Given the description of an element on the screen output the (x, y) to click on. 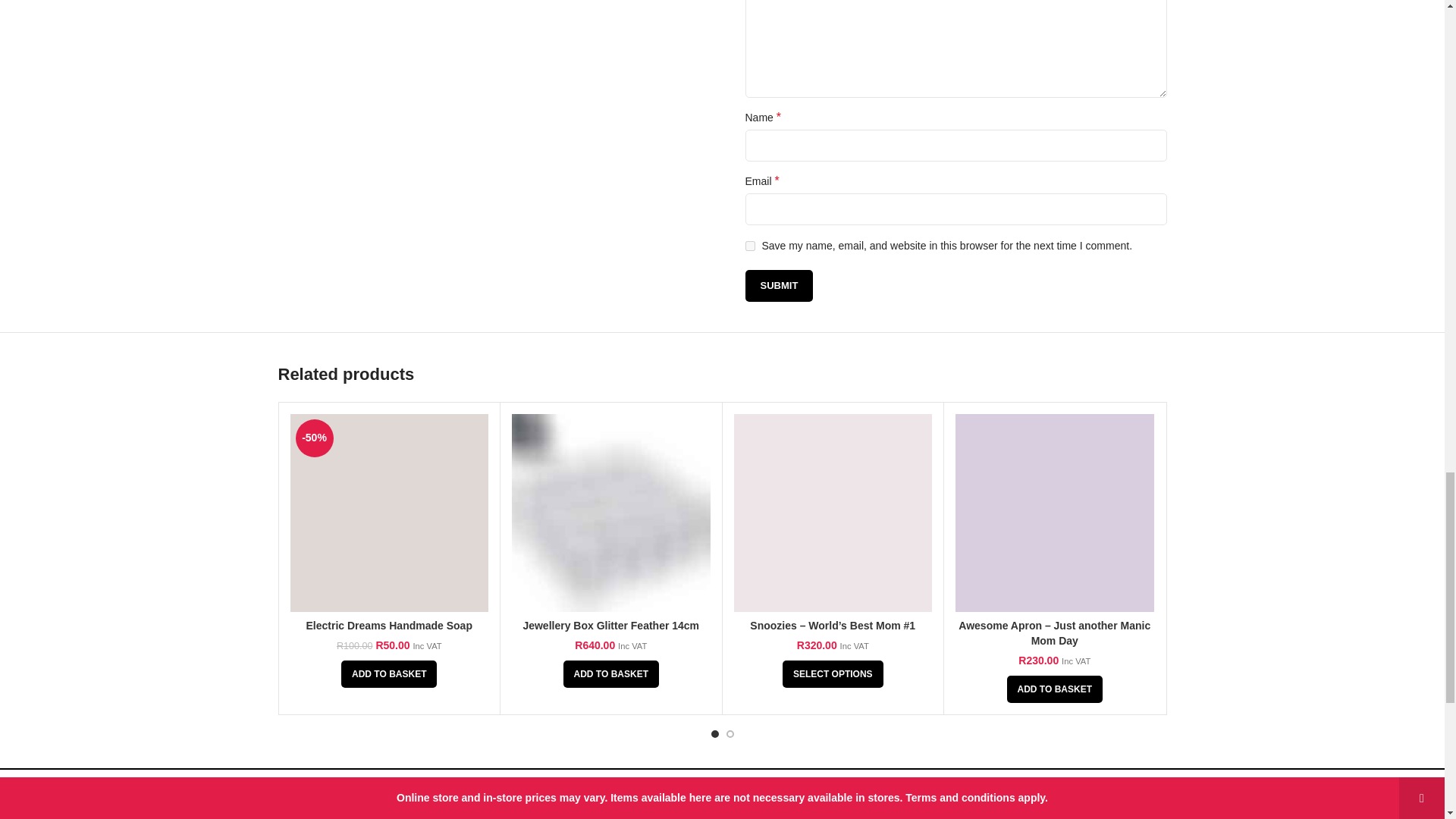
yes (749, 245)
Submit (778, 286)
